Given the description of an element on the screen output the (x, y) to click on. 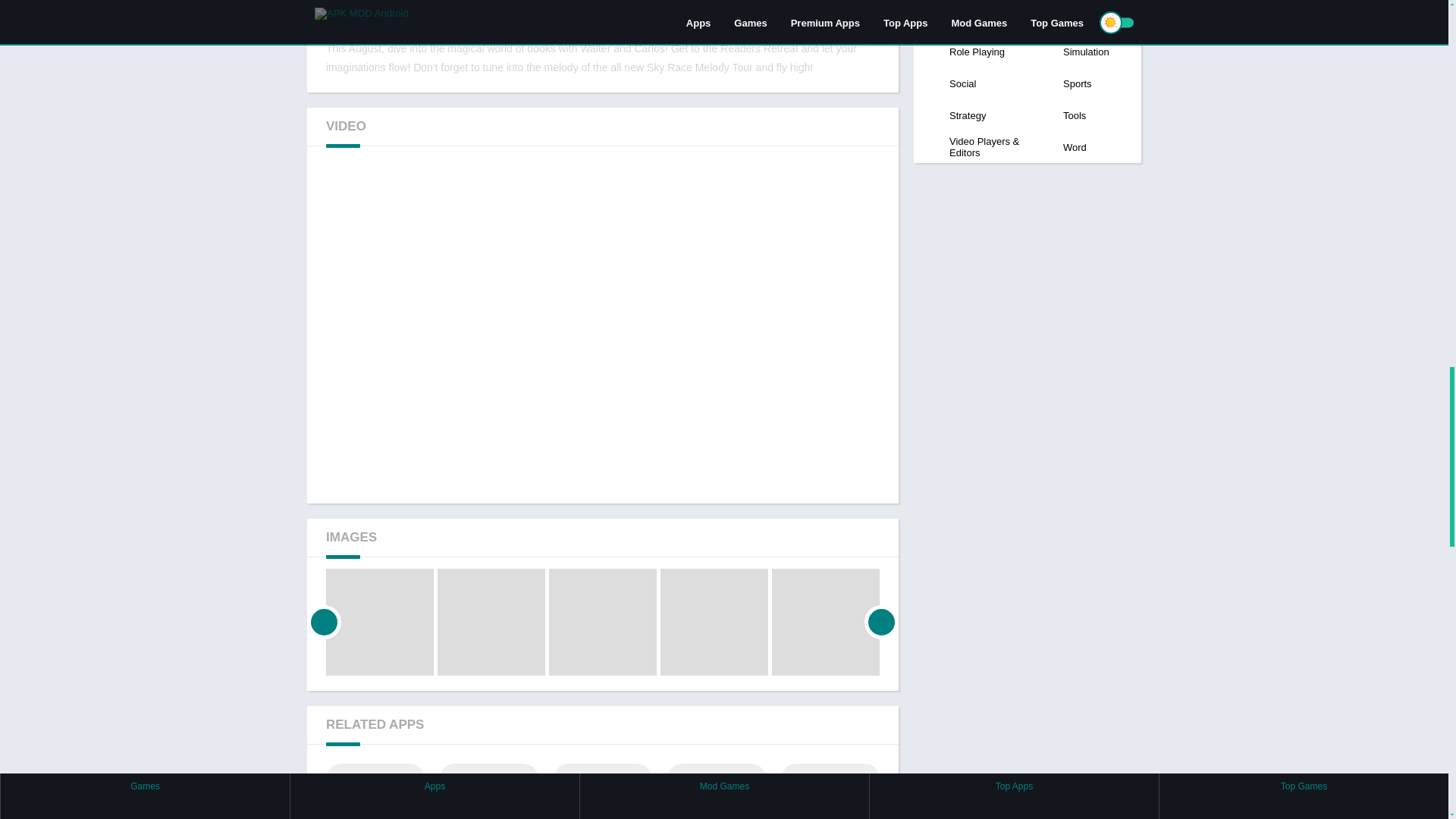
Download Let's Create! Pottery Lite (488, 791)
Download Pocket Love (375, 791)
Download Food Fever: Restaurant Tycoon (715, 791)
Download Idle Farming Adventure (602, 791)
